Given the description of an element on the screen output the (x, y) to click on. 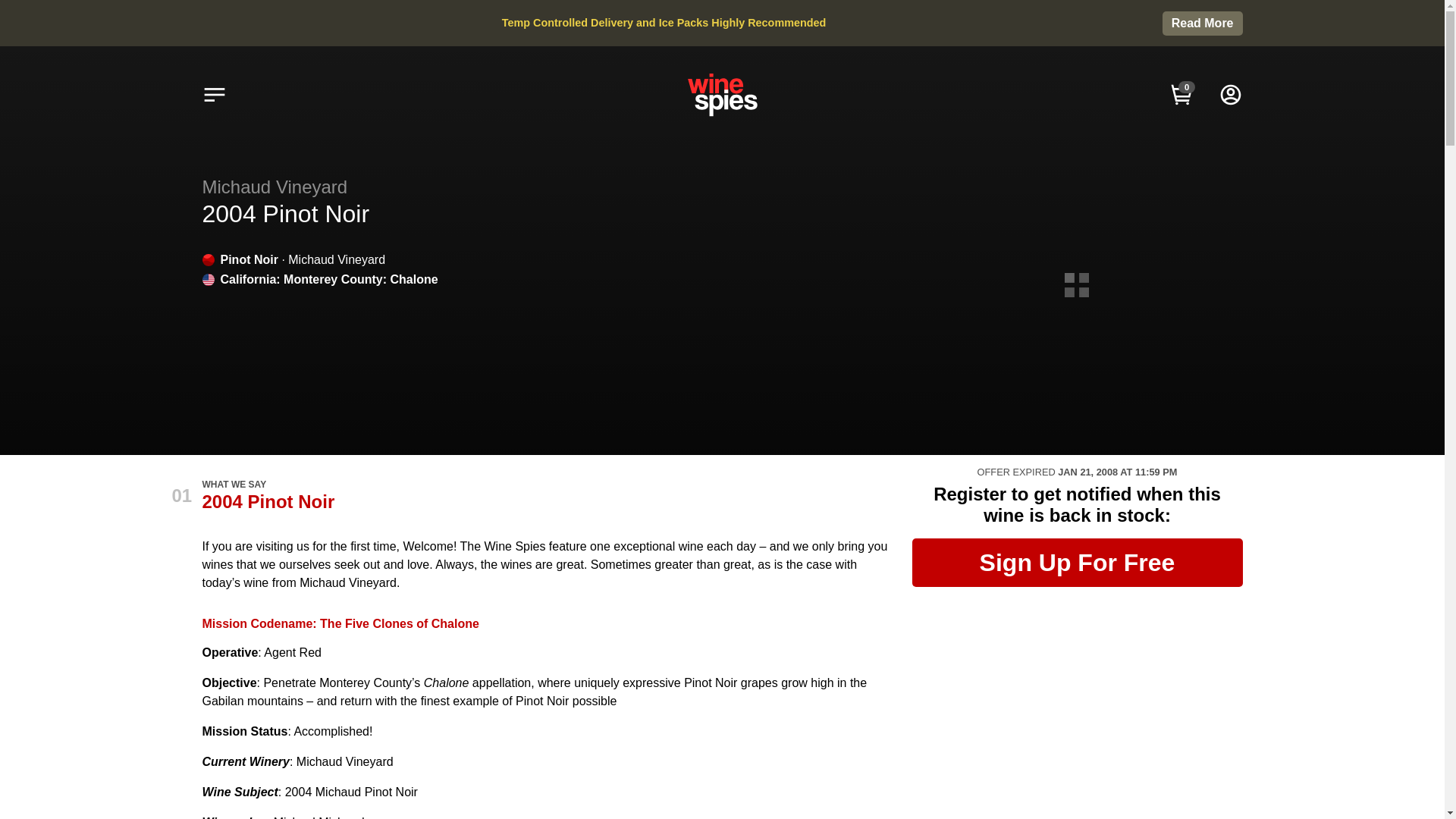
0 (1181, 94)
Sign Up For Free (1076, 562)
Read More (1202, 23)
